Given the description of an element on the screen output the (x, y) to click on. 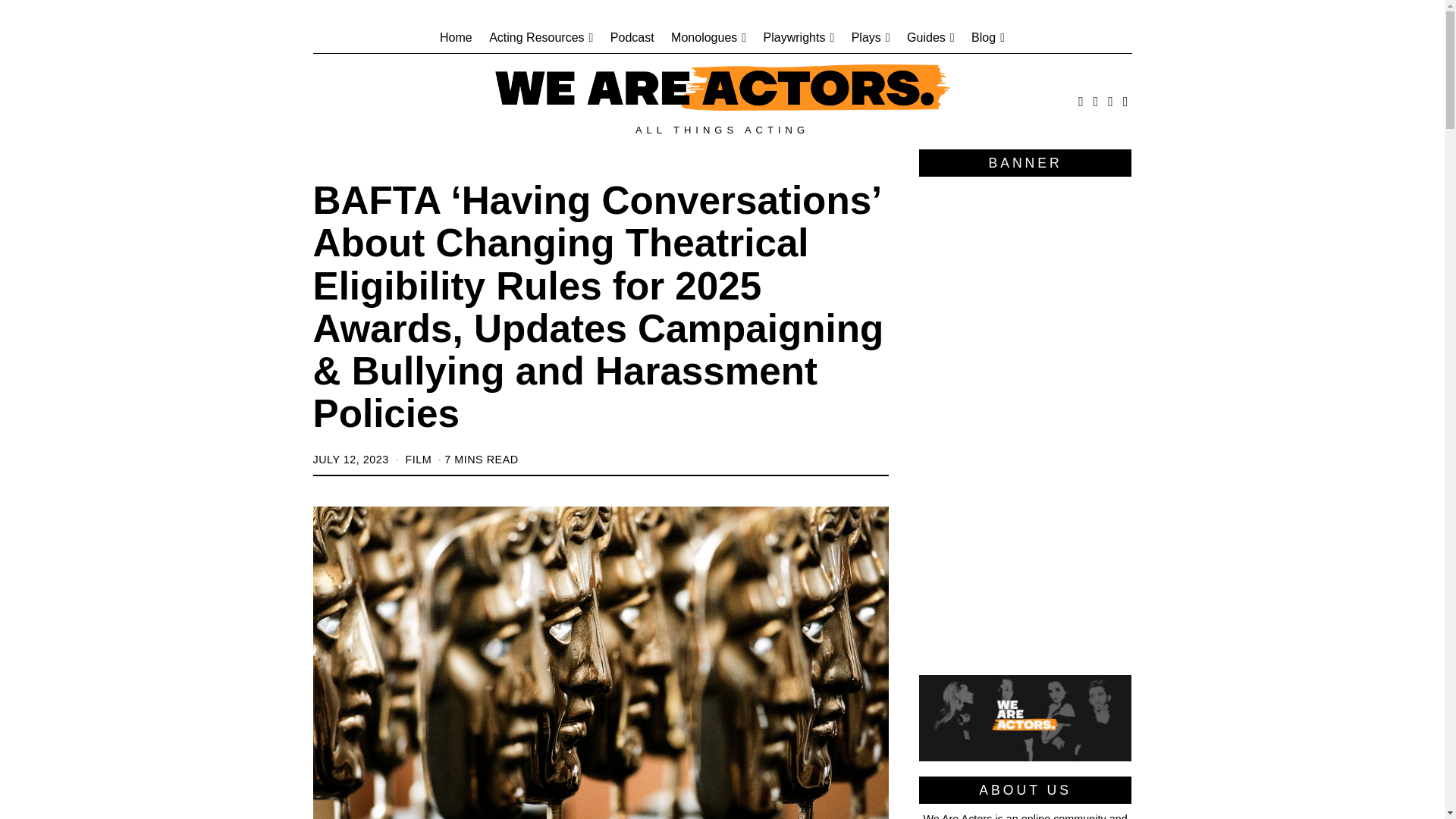
Monologues (707, 37)
Acting Resources (540, 37)
Podcast (632, 37)
Home (455, 37)
